Given the description of an element on the screen output the (x, y) to click on. 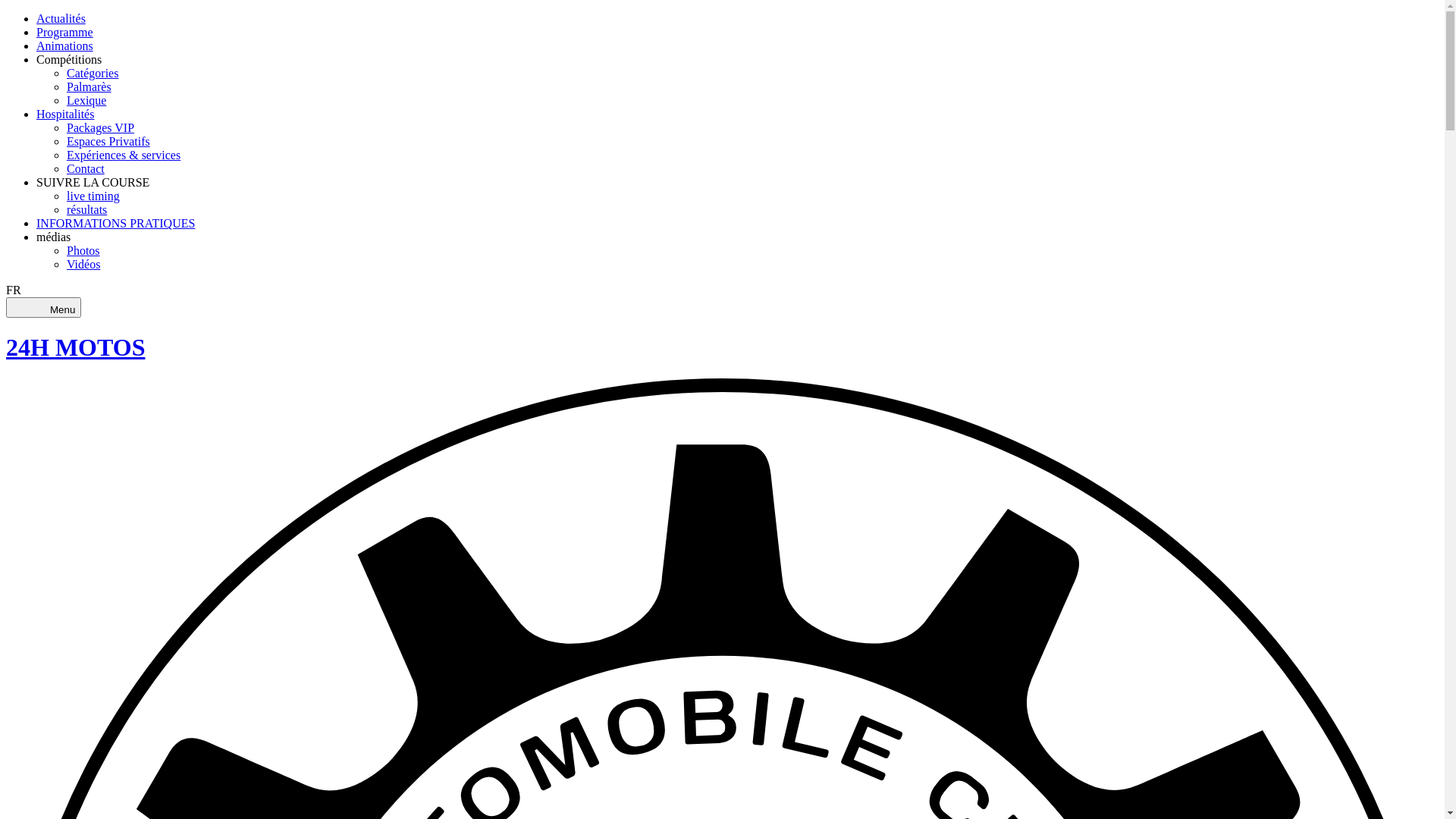
24H MOTOS Element type: text (722, 347)
Espaces Privatifs Element type: text (108, 140)
Programme Element type: text (64, 31)
live timing Element type: text (92, 195)
Lexique Element type: text (86, 100)
INFORMATIONS PRATIQUES Element type: text (115, 222)
Menu Element type: text (43, 307)
Packages VIP Element type: text (100, 127)
Contact Element type: text (85, 168)
Photos Element type: text (83, 250)
Animations Element type: text (64, 45)
